Given the description of an element on the screen output the (x, y) to click on. 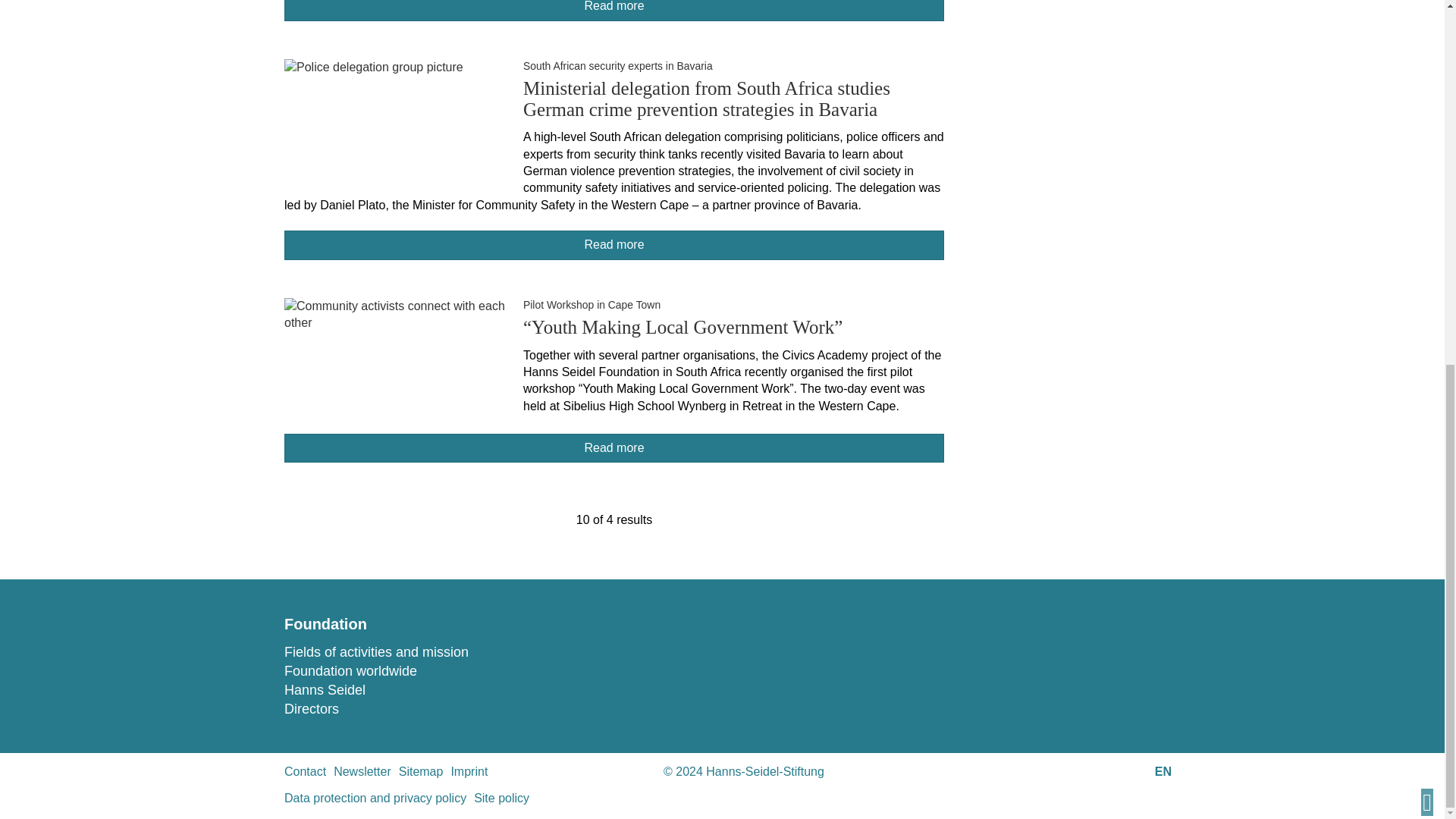
OK (41, 40)
